Given the description of an element on the screen output the (x, y) to click on. 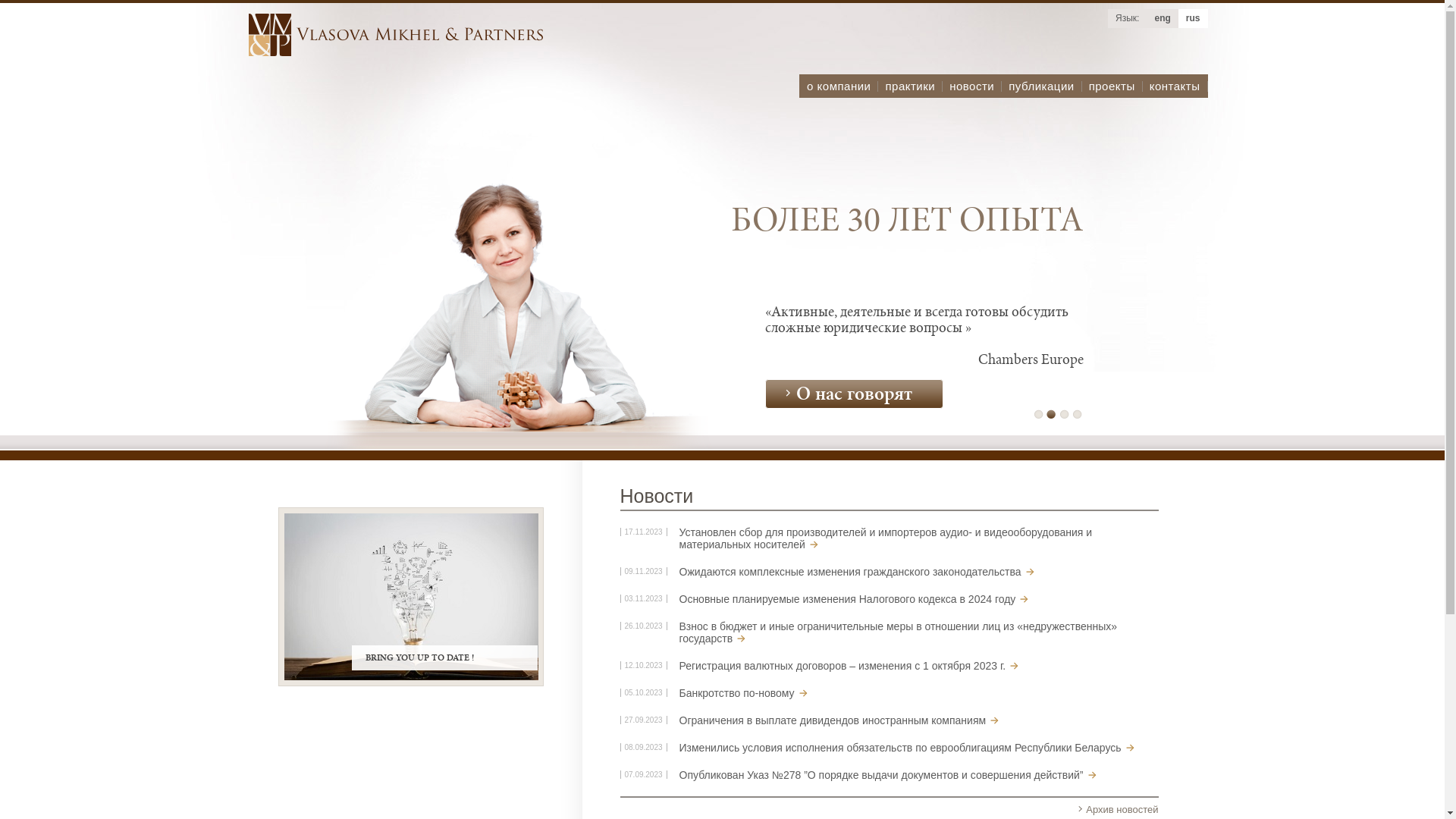
2 Element type: text (1051, 413)
Bring You Up to Date ! Element type: hover (410, 596)
1 Element type: text (1038, 413)
4 Element type: text (1077, 413)
3 Element type: text (1064, 413)
BRING YOU UP TO DATE ! Element type: text (409, 596)
eng Element type: text (1161, 18)
